Given the description of an element on the screen output the (x, y) to click on. 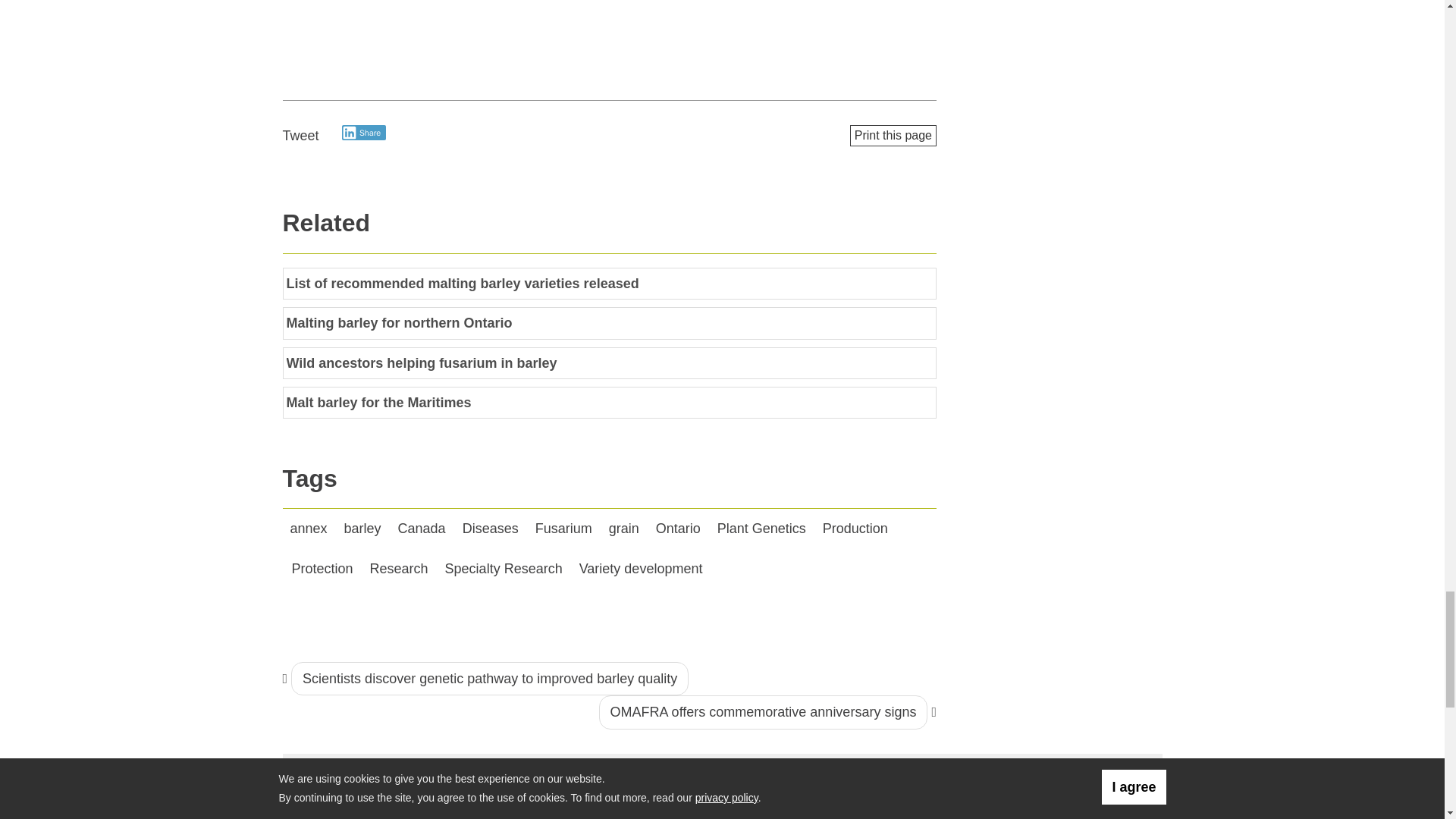
Top Crop Manager (395, 787)
